Given the description of an element on the screen output the (x, y) to click on. 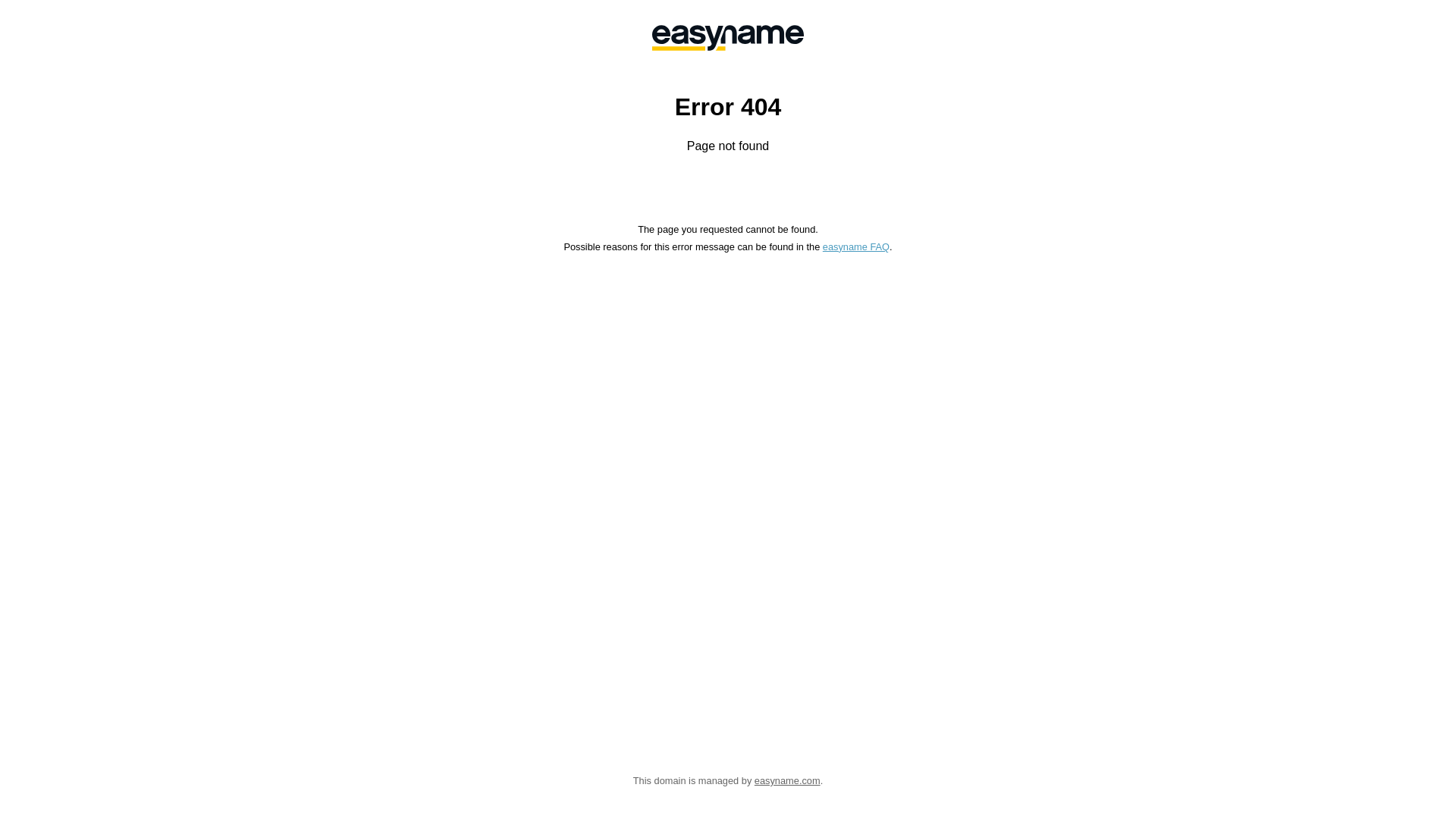
easyname FAQ Element type: text (855, 246)
easyname.com Element type: text (787, 780)
easyname GmbH Element type: hover (727, 37)
